Given the description of an element on the screen output the (x, y) to click on. 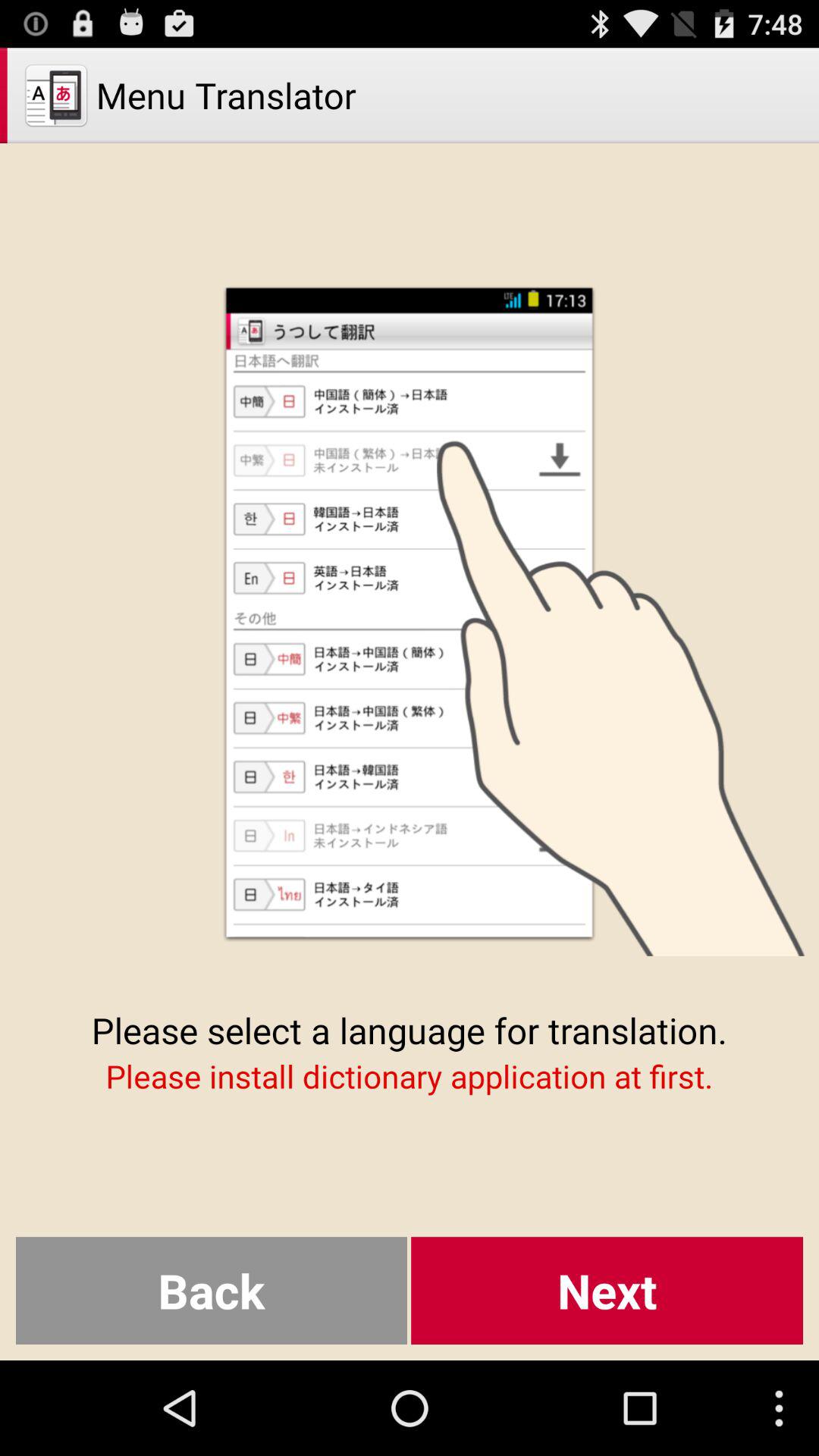
select the button to the left of the next item (211, 1290)
